Given the description of an element on the screen output the (x, y) to click on. 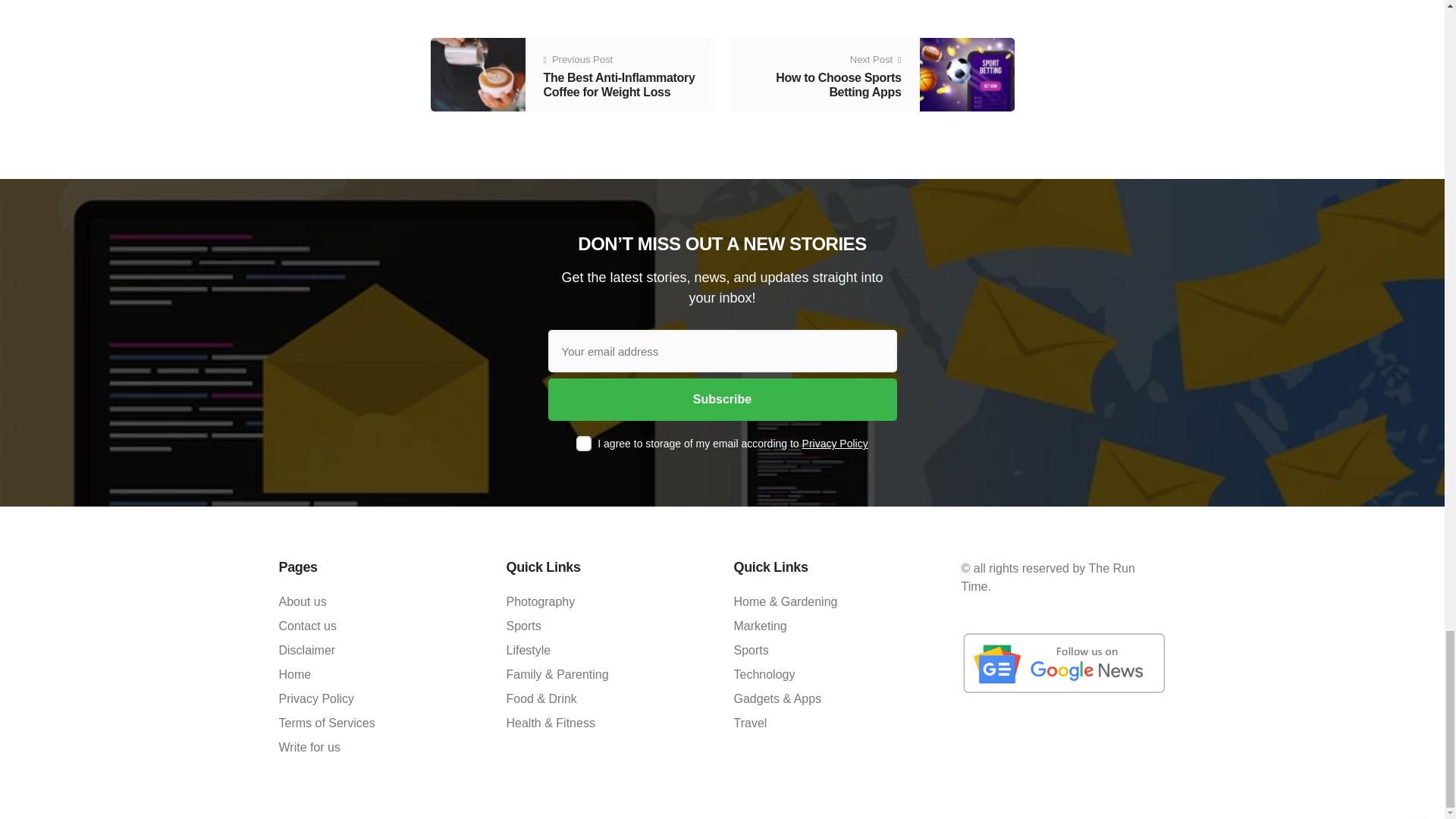
Subscribe (721, 399)
1 (583, 443)
